Given the description of an element on the screen output the (x, y) to click on. 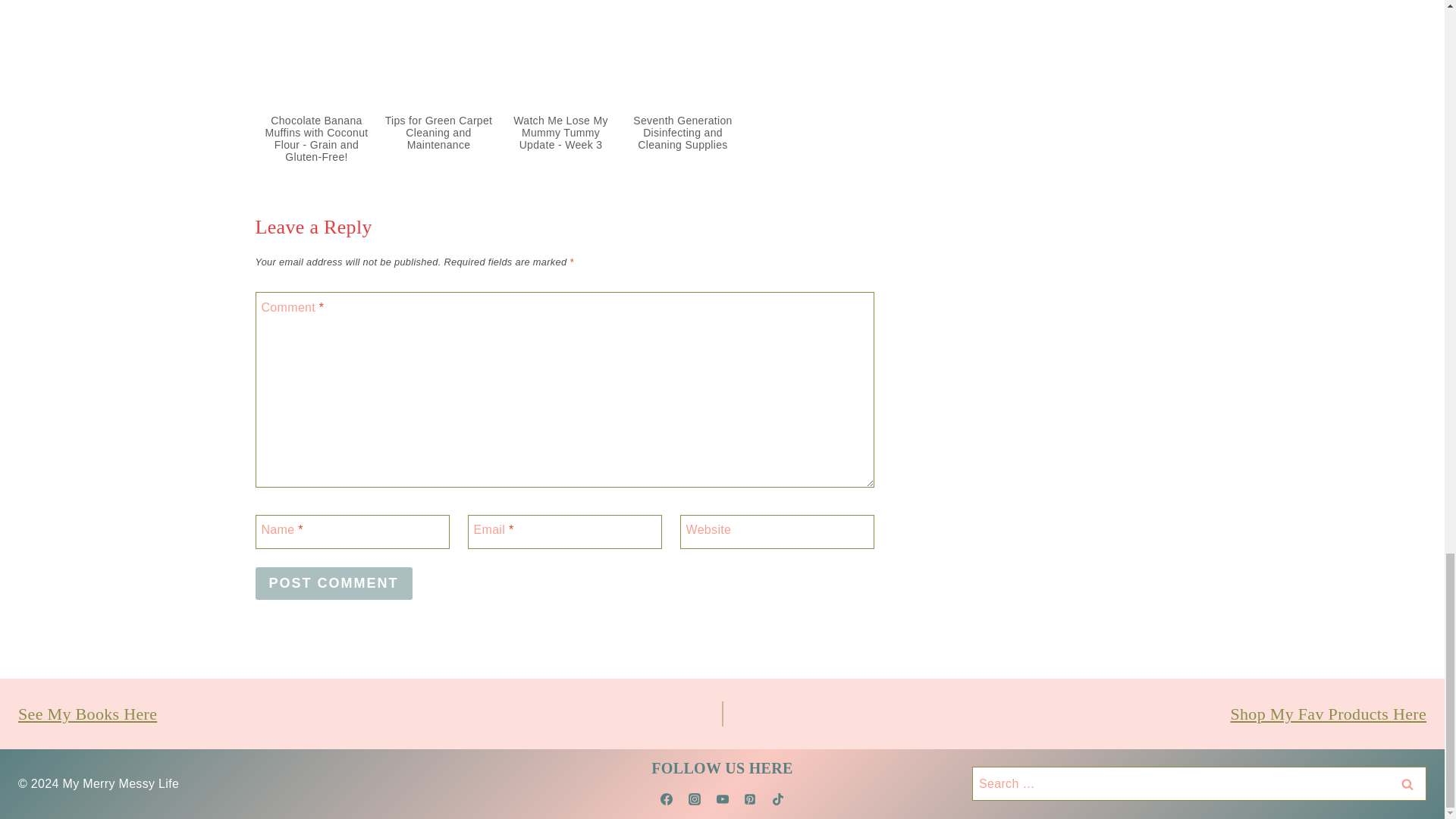
Search (1407, 783)
Post Comment (333, 583)
Search (1407, 783)
